Given the description of an element on the screen output the (x, y) to click on. 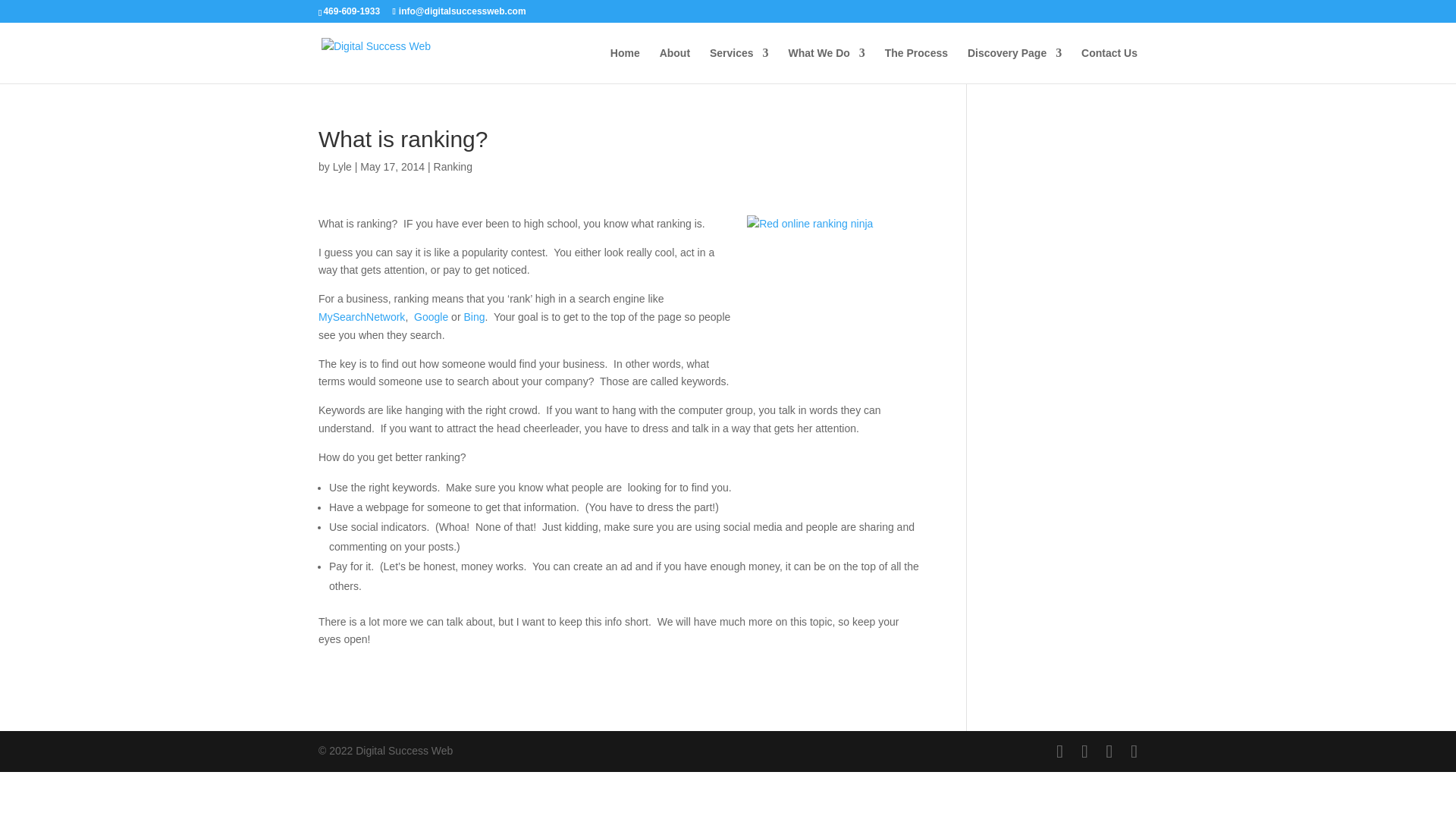
What We Do (825, 65)
Lyle (342, 166)
Posts by Lyle (342, 166)
The Process (916, 65)
Services (739, 65)
Contact Us (1109, 65)
Google (430, 316)
MySearchNetwork (361, 316)
Discovery Page (1014, 65)
Ranking (452, 166)
